Given the description of an element on the screen output the (x, y) to click on. 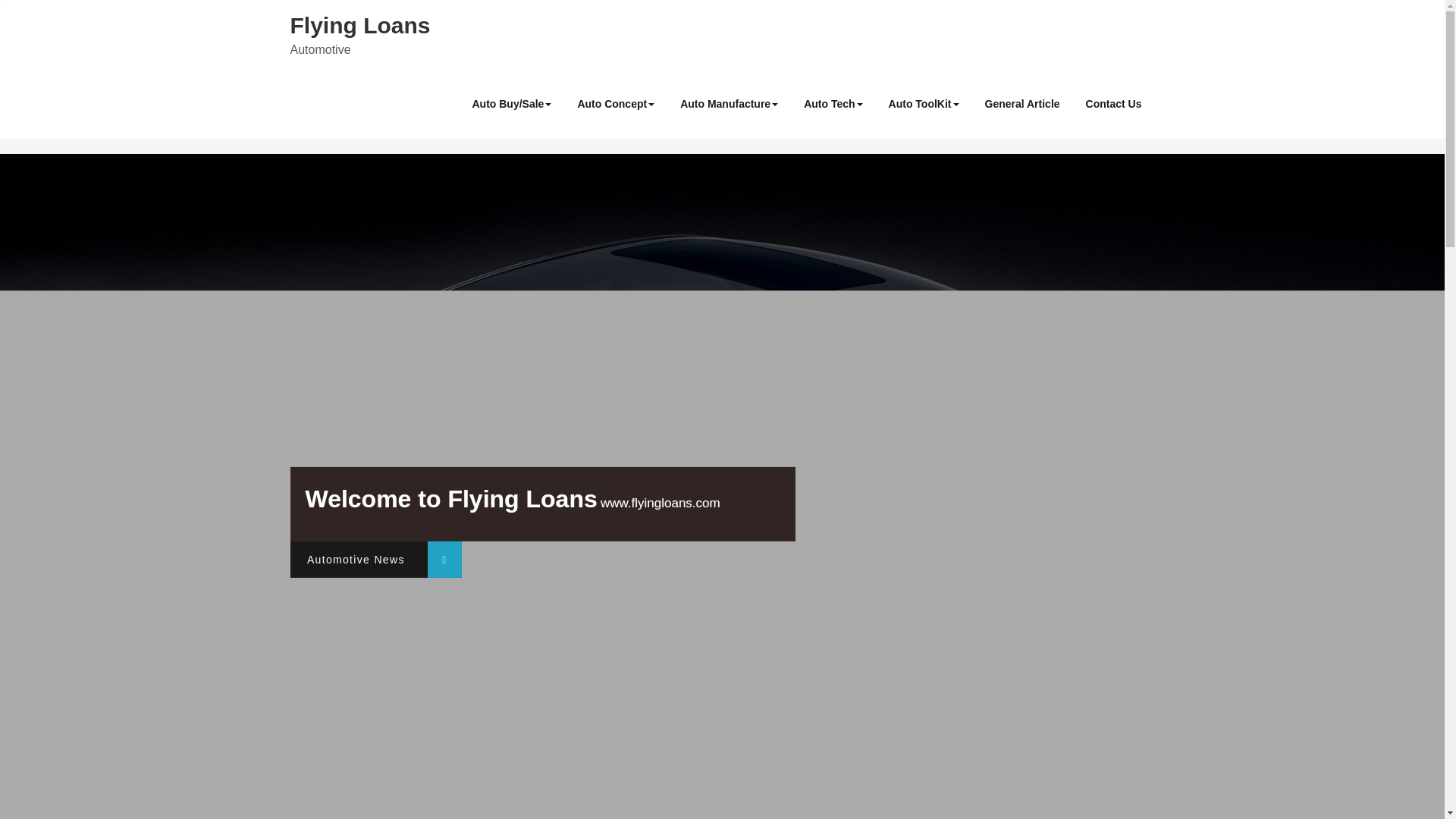
Auto Concept (615, 103)
Contact Us (1113, 103)
General Article (1022, 103)
Flying Loans (359, 25)
Auto Tech (832, 103)
Auto Manufacture (728, 103)
Auto ToolKit (924, 103)
Automotive News (375, 559)
